Given the description of an element on the screen output the (x, y) to click on. 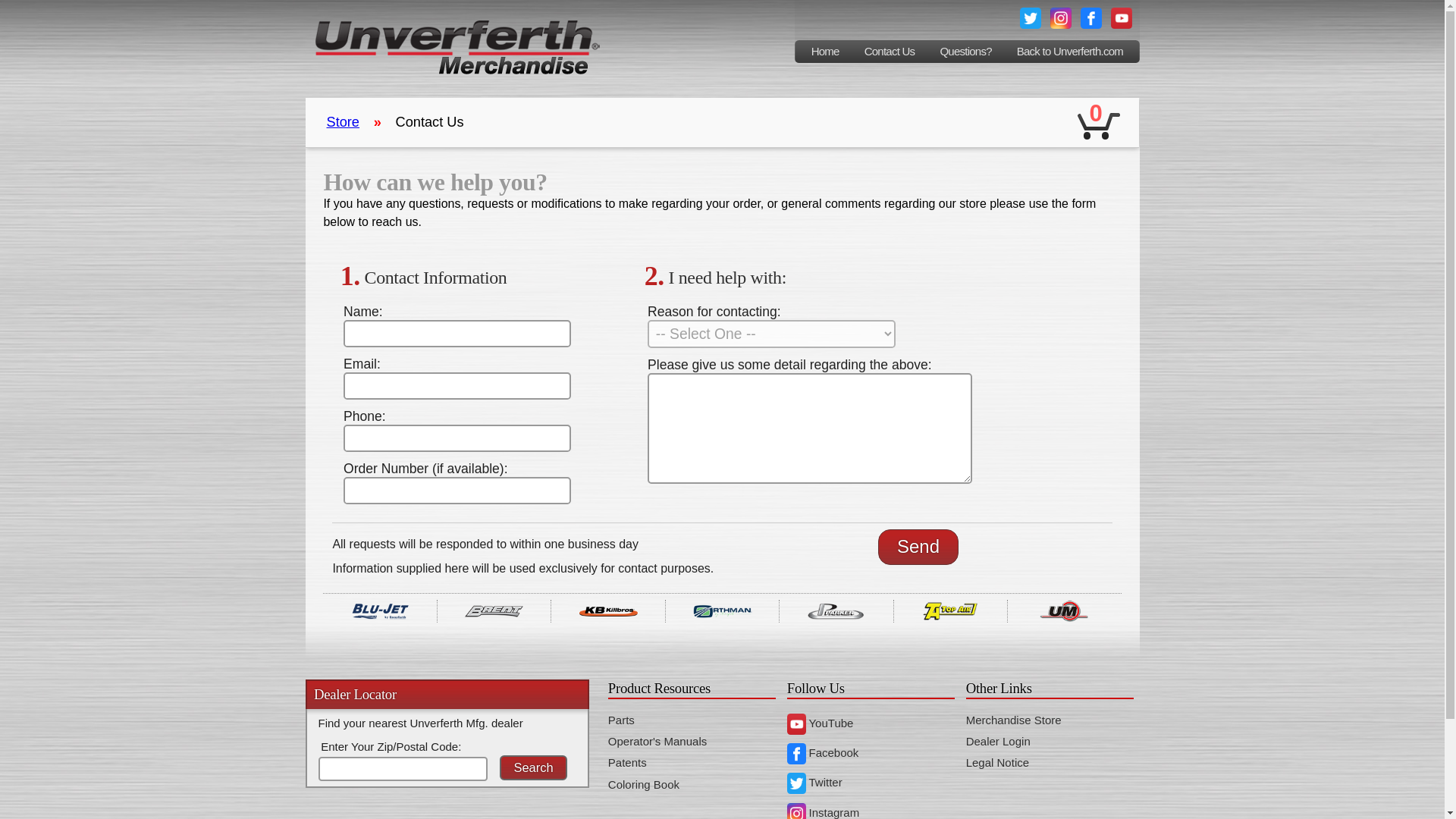
Search (533, 767)
Twitter - Follow us (1030, 16)
Blu-Jet Equipment (379, 610)
Killbros Equipment (606, 610)
Twitter (815, 781)
Facebook (823, 752)
Questions? (965, 51)
Legal Notice (997, 762)
Home (824, 51)
Parker Equipment (835, 610)
Facebook - Like us (1091, 16)
Parts (621, 719)
Operator's Manuals (657, 740)
Instagram (823, 812)
YouTube (820, 722)
